Given the description of an element on the screen output the (x, y) to click on. 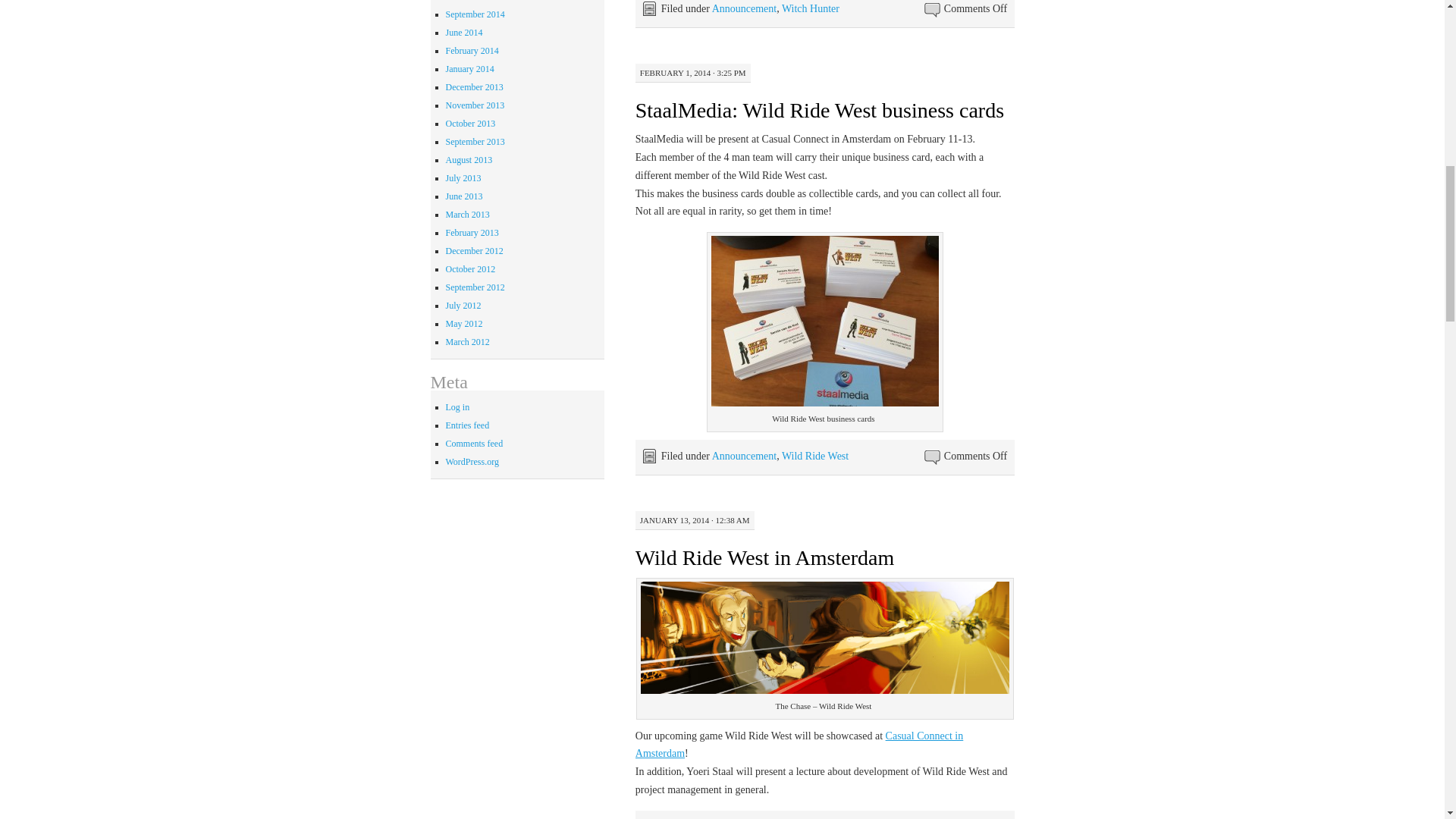
Witch Hunter (810, 8)
Wild Ride West in Amsterdam (763, 557)
Announcement (744, 8)
Announcement (744, 455)
Casual Connect in Amsterdam (798, 745)
Casual Connect in Amsterdam (798, 745)
StaalMedia: Wild Ride West business cards (819, 110)
Wild Ride West (814, 455)
